Given the description of an element on the screen output the (x, y) to click on. 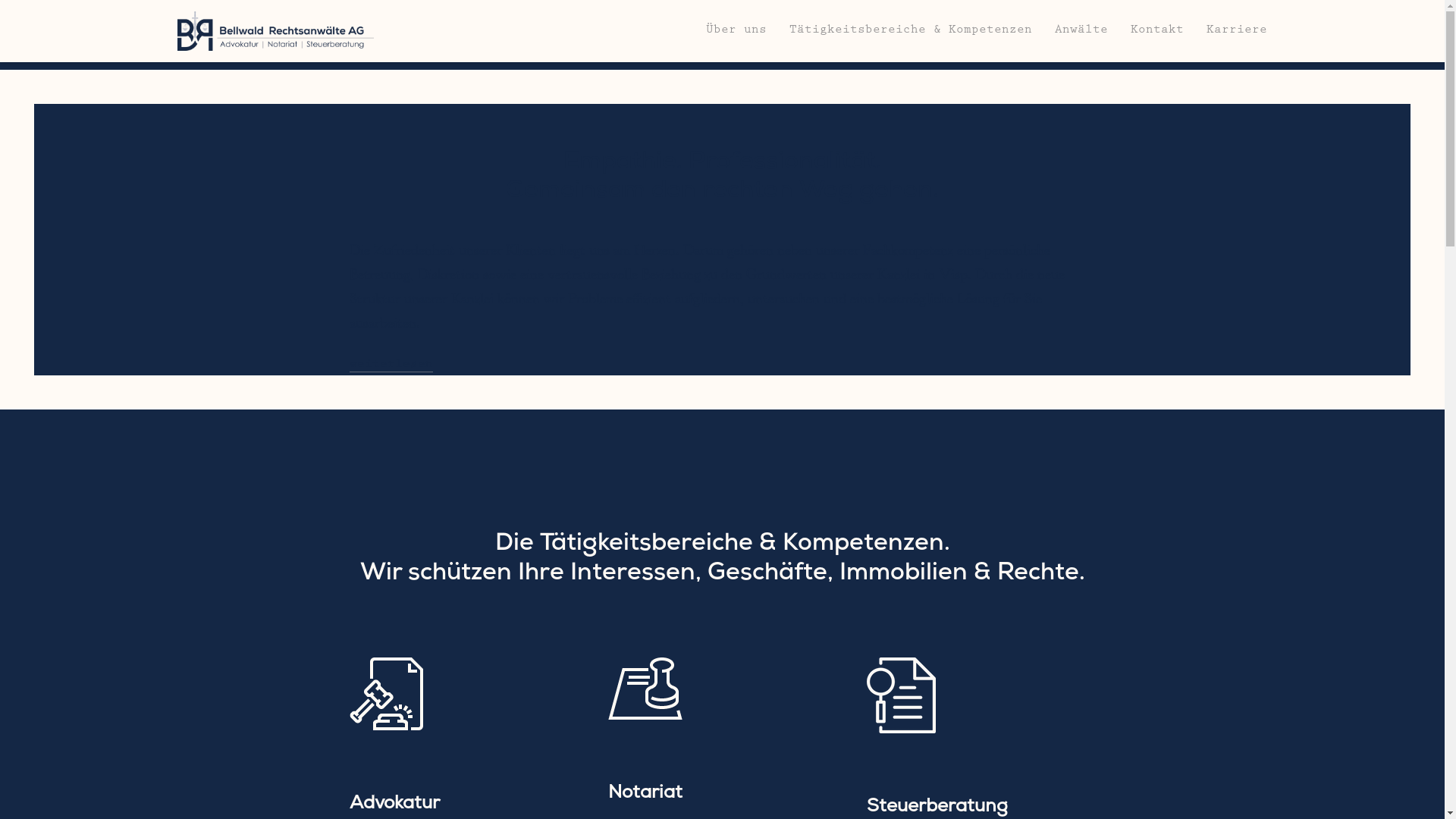
weiterlesen Element type: text (390, 365)
Karriere Element type: text (1236, 31)
Kontakt Element type: text (1156, 31)
